Given the description of an element on the screen output the (x, y) to click on. 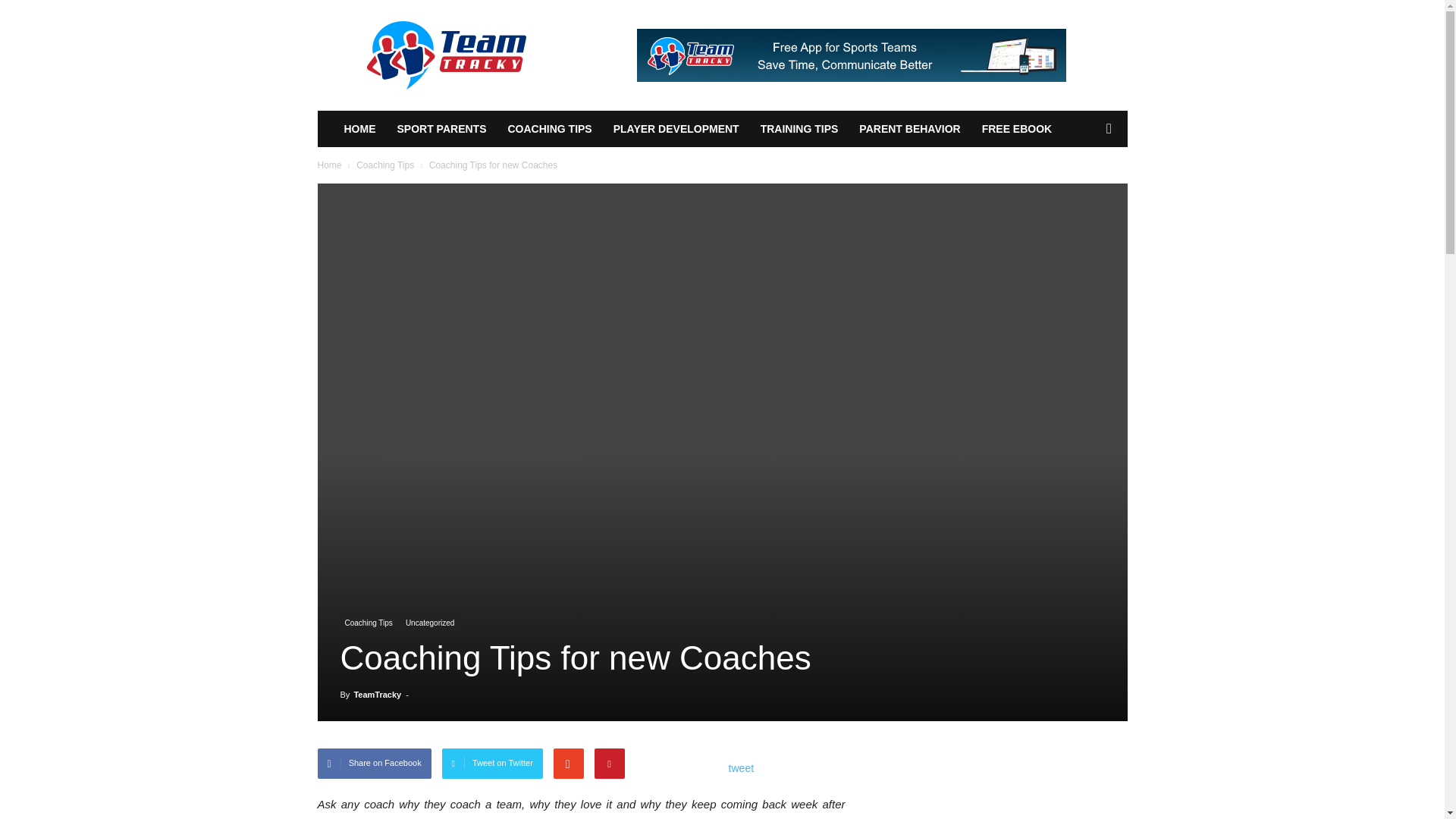
TeamTracky (377, 694)
Share on Facebook (373, 763)
PLAYER DEVELOPMENT (675, 128)
SPORT PARENTS (442, 128)
Home (328, 164)
Coaching Tips (384, 164)
Tweet on Twitter (492, 763)
tweet (741, 768)
HOME (360, 128)
TRAINING TIPS (798, 128)
